Given the description of an element on the screen output the (x, y) to click on. 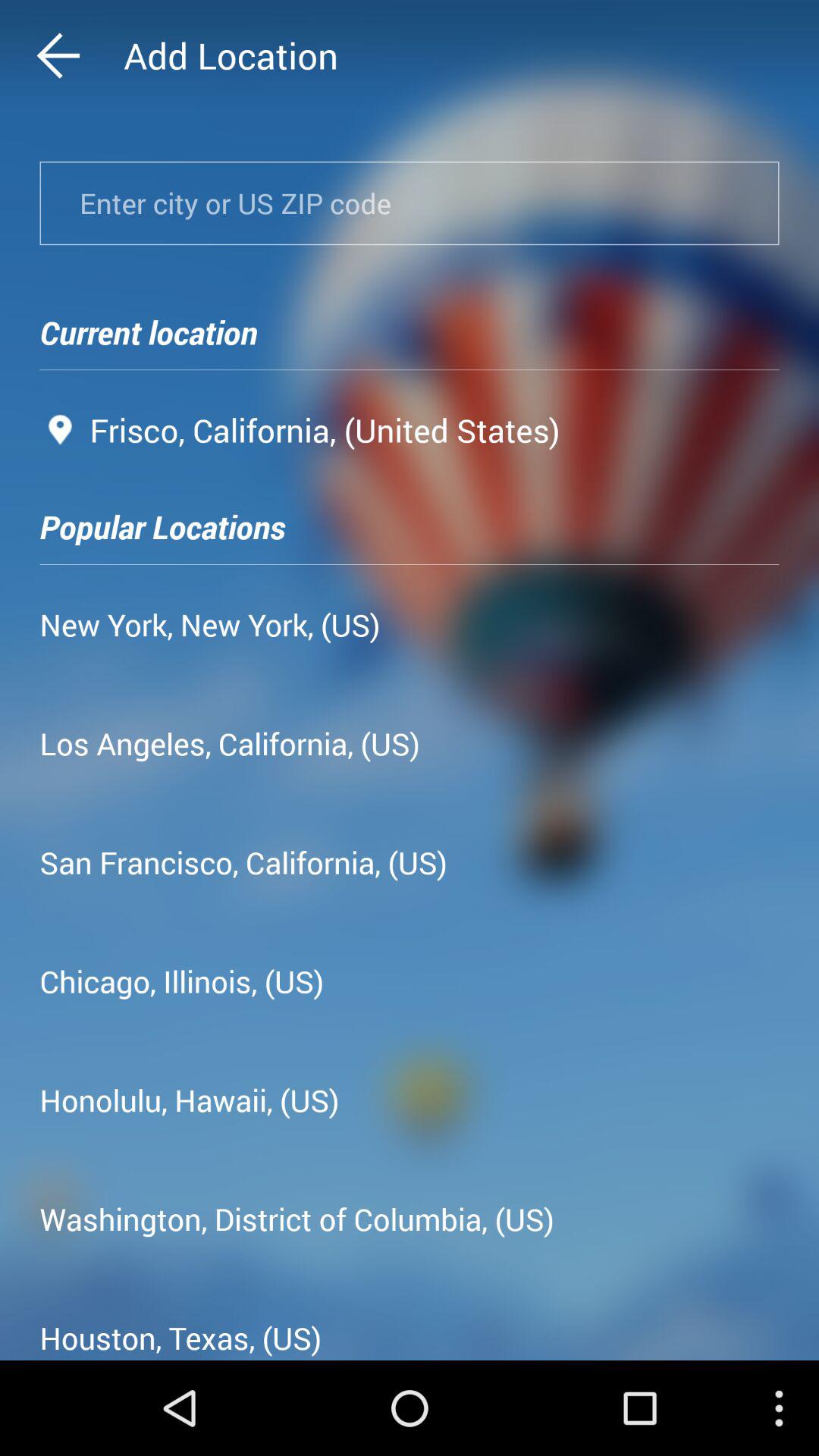
enter information (409, 203)
